Given the description of an element on the screen output the (x, y) to click on. 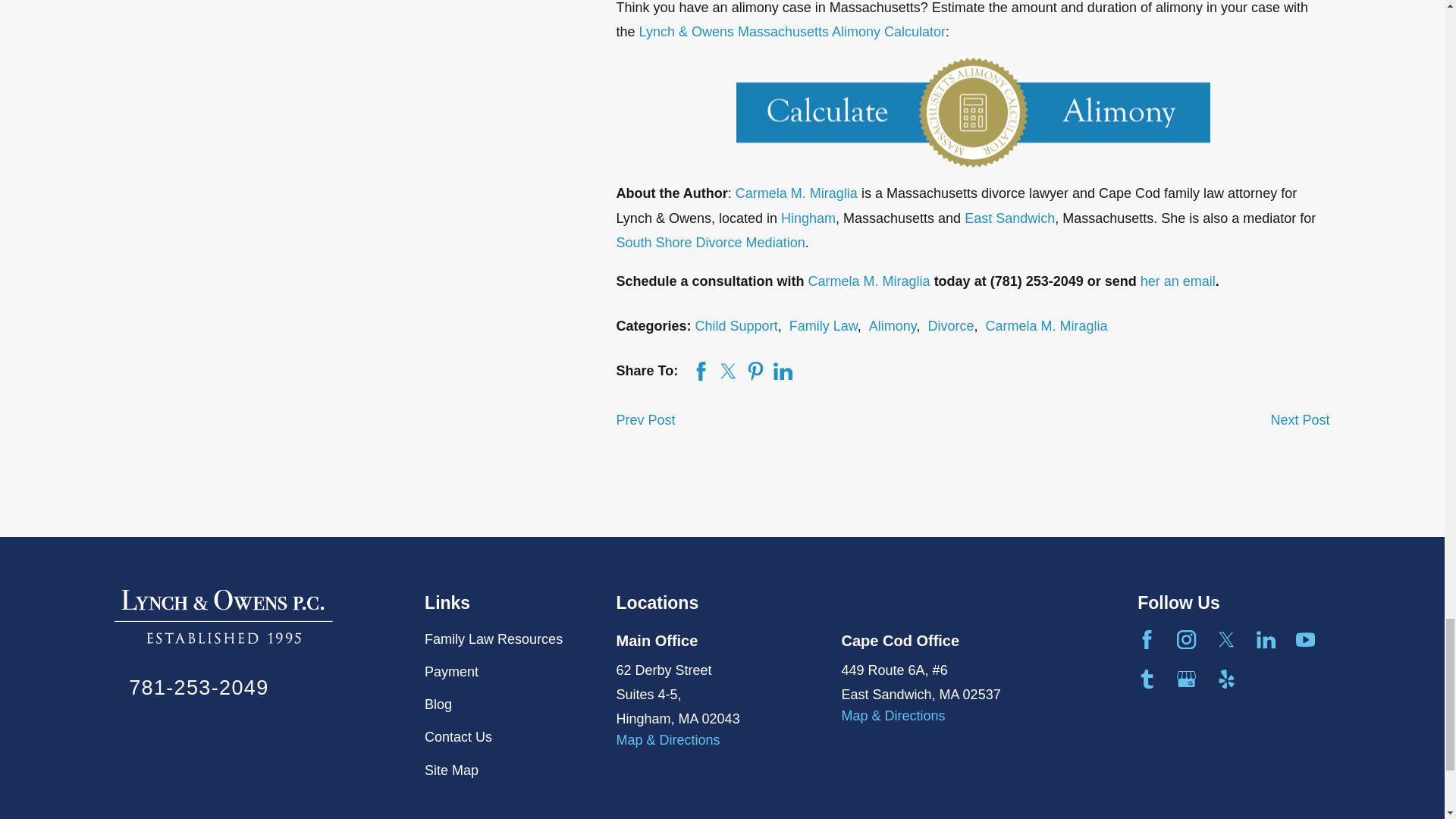
Home (224, 616)
